Given the description of an element on the screen output the (x, y) to click on. 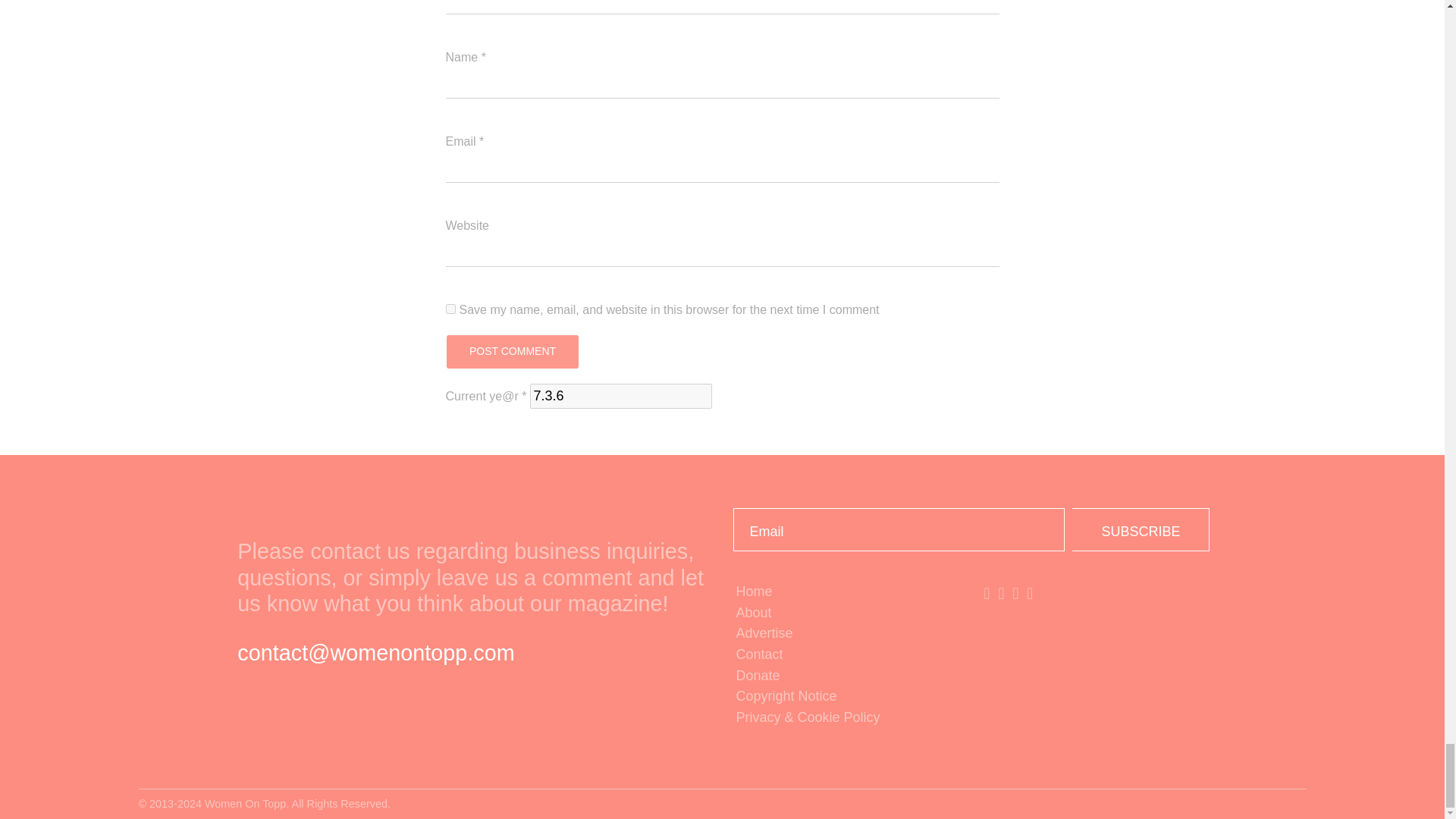
Home (845, 591)
Copyright Notice (845, 696)
About (845, 613)
Advertise (845, 633)
yes (450, 308)
Post Comment (511, 351)
Donate (845, 676)
7.3.6 (620, 396)
Contact (845, 654)
Subscribe (1140, 529)
